Given the description of an element on the screen output the (x, y) to click on. 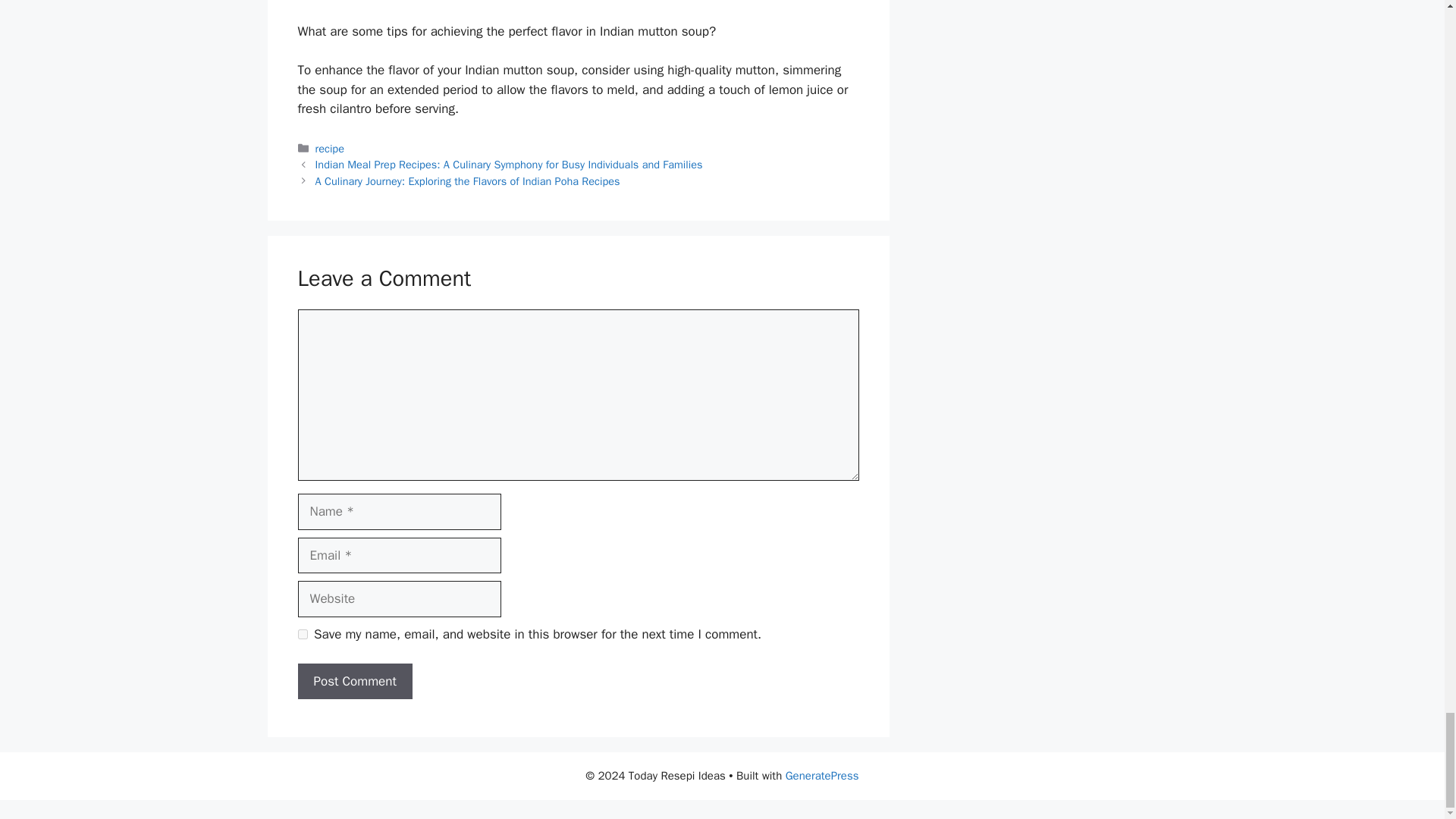
Post Comment (354, 681)
recipe (329, 148)
yes (302, 634)
Post Comment (354, 681)
GeneratePress (822, 775)
